Given the description of an element on the screen output the (x, y) to click on. 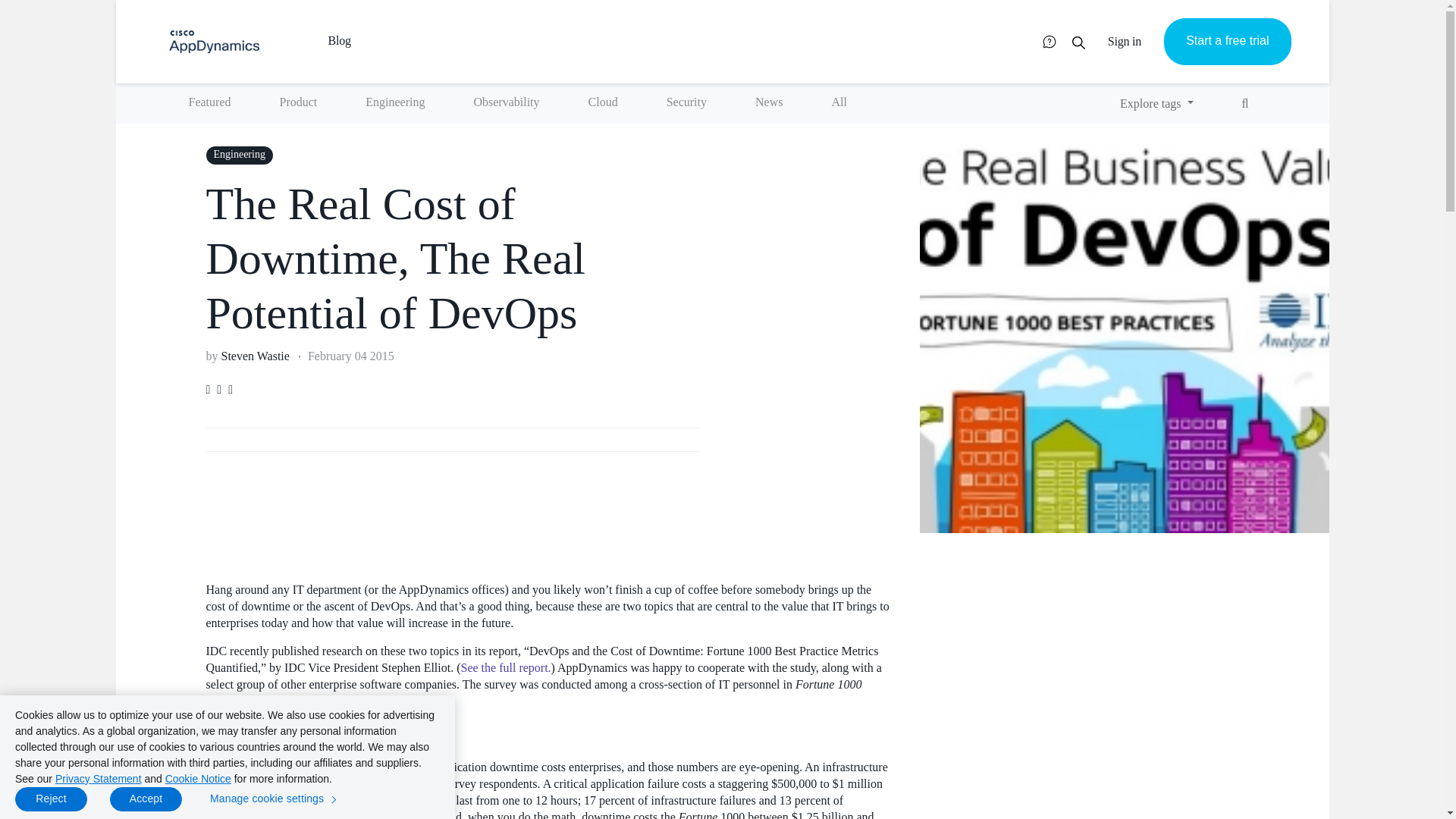
Blog (361, 29)
Start a free trial (1226, 41)
Security (686, 103)
Engineering (394, 103)
Observability (505, 103)
Product (297, 103)
Featured (208, 103)
Cloud (603, 103)
Sign in (1124, 41)
News (768, 103)
appd-logo (213, 41)
